Given the description of an element on the screen output the (x, y) to click on. 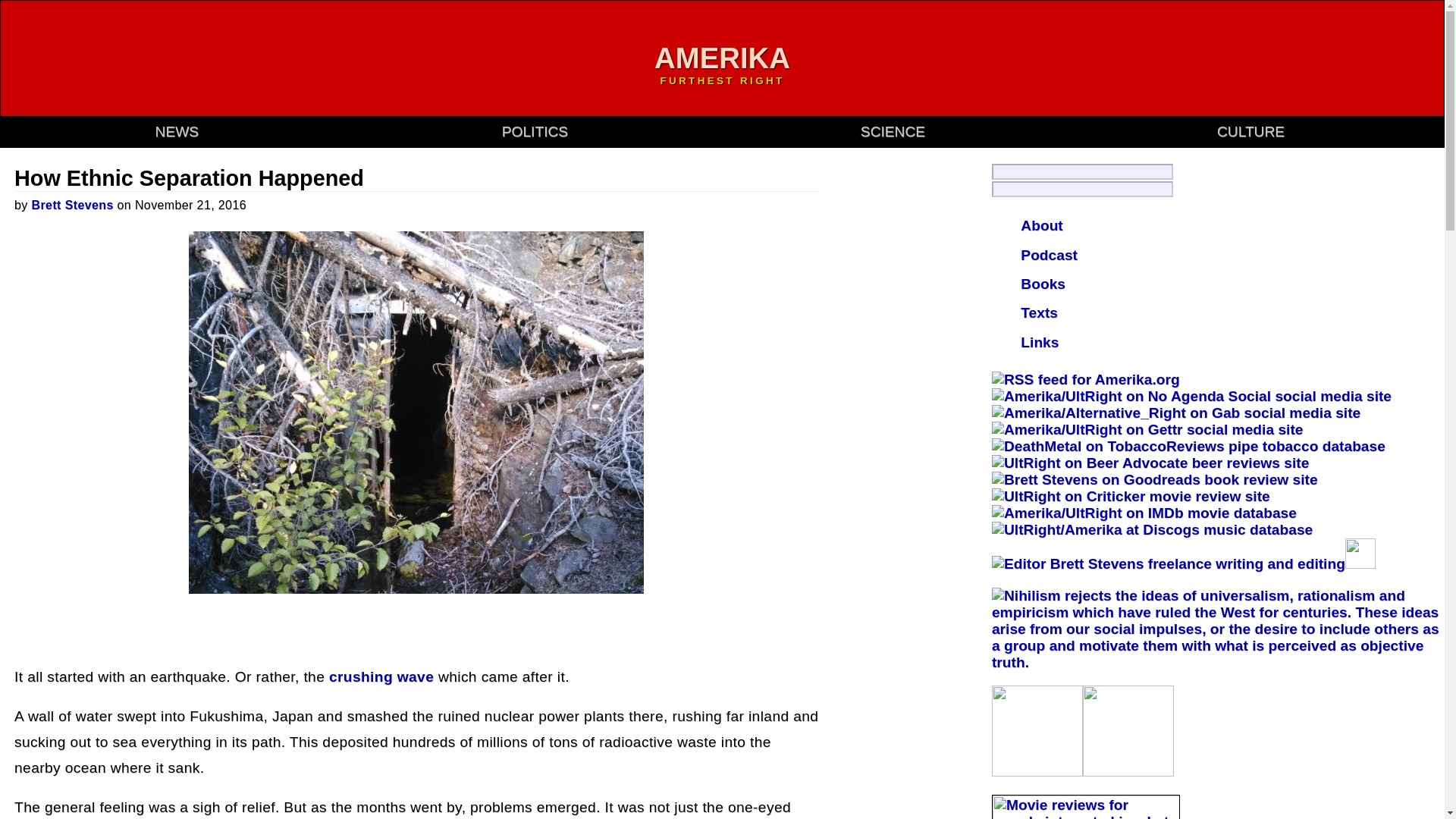
CULTURE (1250, 131)
Brett Stevens (72, 205)
Podcast (1048, 254)
UltRight on Criticker (1130, 496)
SCIENCE (892, 131)
About (1041, 225)
Brett Stevens (72, 205)
Brett Stevens on Goodreads (1154, 479)
Books (1042, 283)
